Given the description of an element on the screen output the (x, y) to click on. 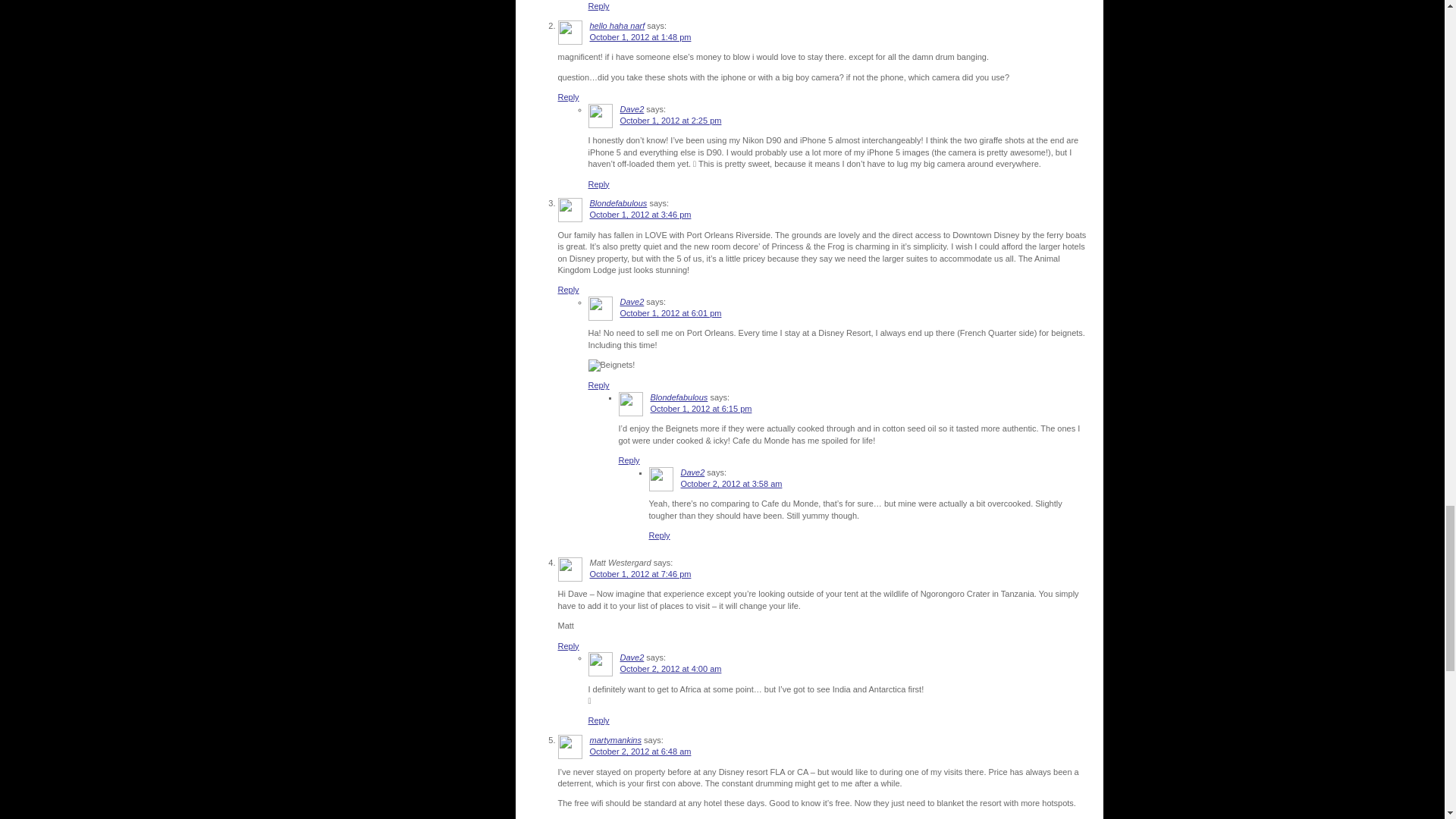
Reply (629, 460)
Reply (599, 5)
Dave2 (632, 108)
Blondefabulous (618, 203)
Dave2 (632, 301)
Blondefabulous (678, 397)
Reply (568, 289)
October 1, 2012 at 1:48 pm (640, 36)
Reply (599, 184)
Reply (568, 96)
Reply (599, 384)
hello haha narf (617, 25)
October 1, 2012 at 6:01 pm (671, 312)
October 1, 2012 at 3:46 pm (640, 214)
October 1, 2012 at 2:25 pm (671, 120)
